Given the description of an element on the screen output the (x, y) to click on. 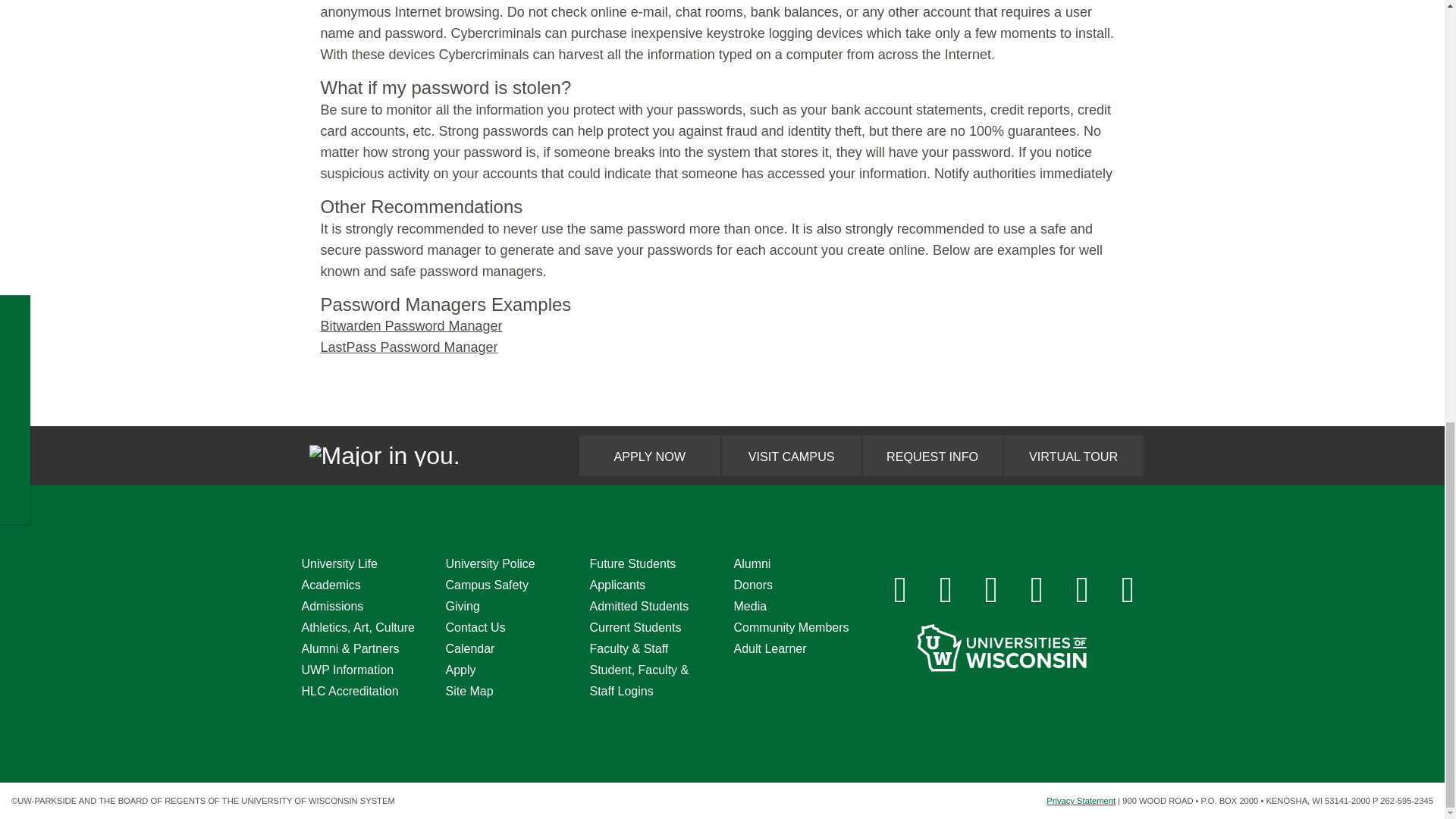
X (991, 589)
Instagram (946, 589)
LinkedIn (1036, 589)
TikTok (1082, 589)
Email Admissions (1128, 589)
Facebook (900, 589)
